Given the description of an element on the screen output the (x, y) to click on. 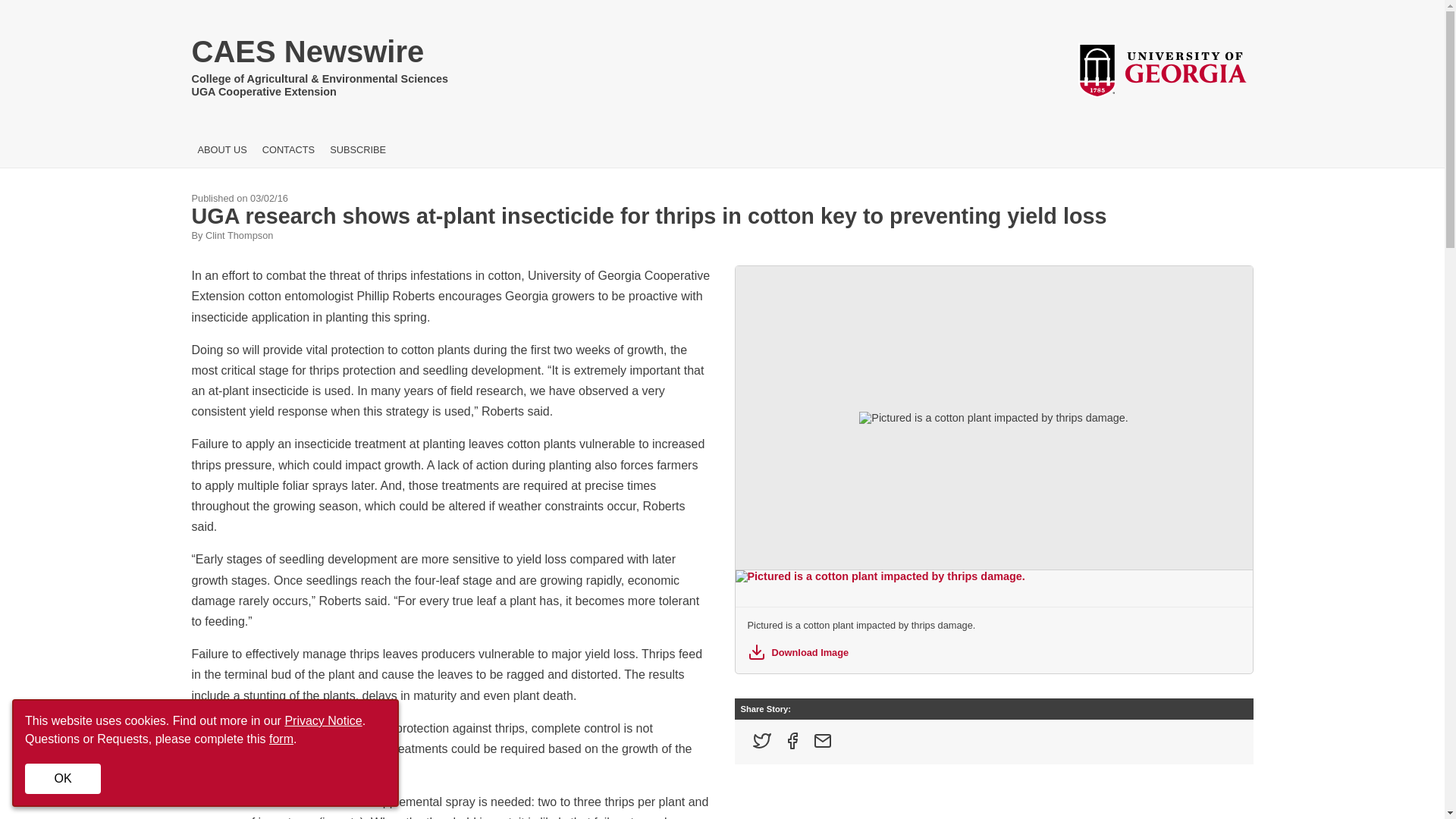
OK (62, 778)
CONTACTS (288, 149)
ABOUT US (221, 149)
UGA Cooperative Extension (319, 91)
Download Image (994, 651)
Privacy Notice (322, 720)
SUBSCRIBE (357, 149)
CAES Newswire (319, 54)
form (281, 738)
